Given the description of an element on the screen output the (x, y) to click on. 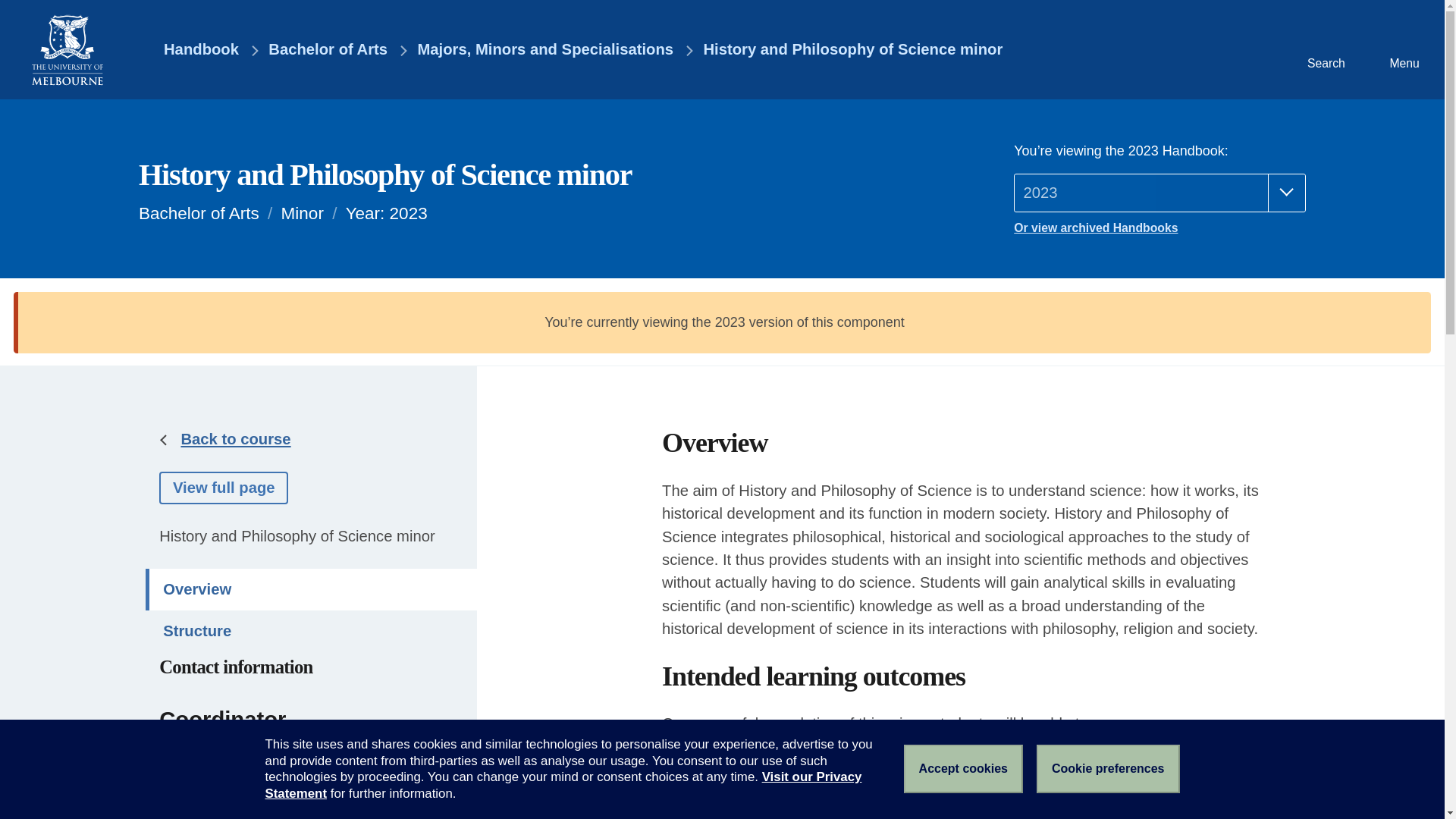
Structure (311, 630)
Back to course (234, 438)
History and Philosophy of Science minor (853, 49)
View full page (223, 487)
Handbook (189, 49)
Search (1324, 49)
Search (1324, 49)
Or view archived Handbooks (1159, 228)
Overview (311, 589)
Bachelor of Arts (327, 49)
Majors, Minors and Specialisations (544, 49)
